Given the description of an element on the screen output the (x, y) to click on. 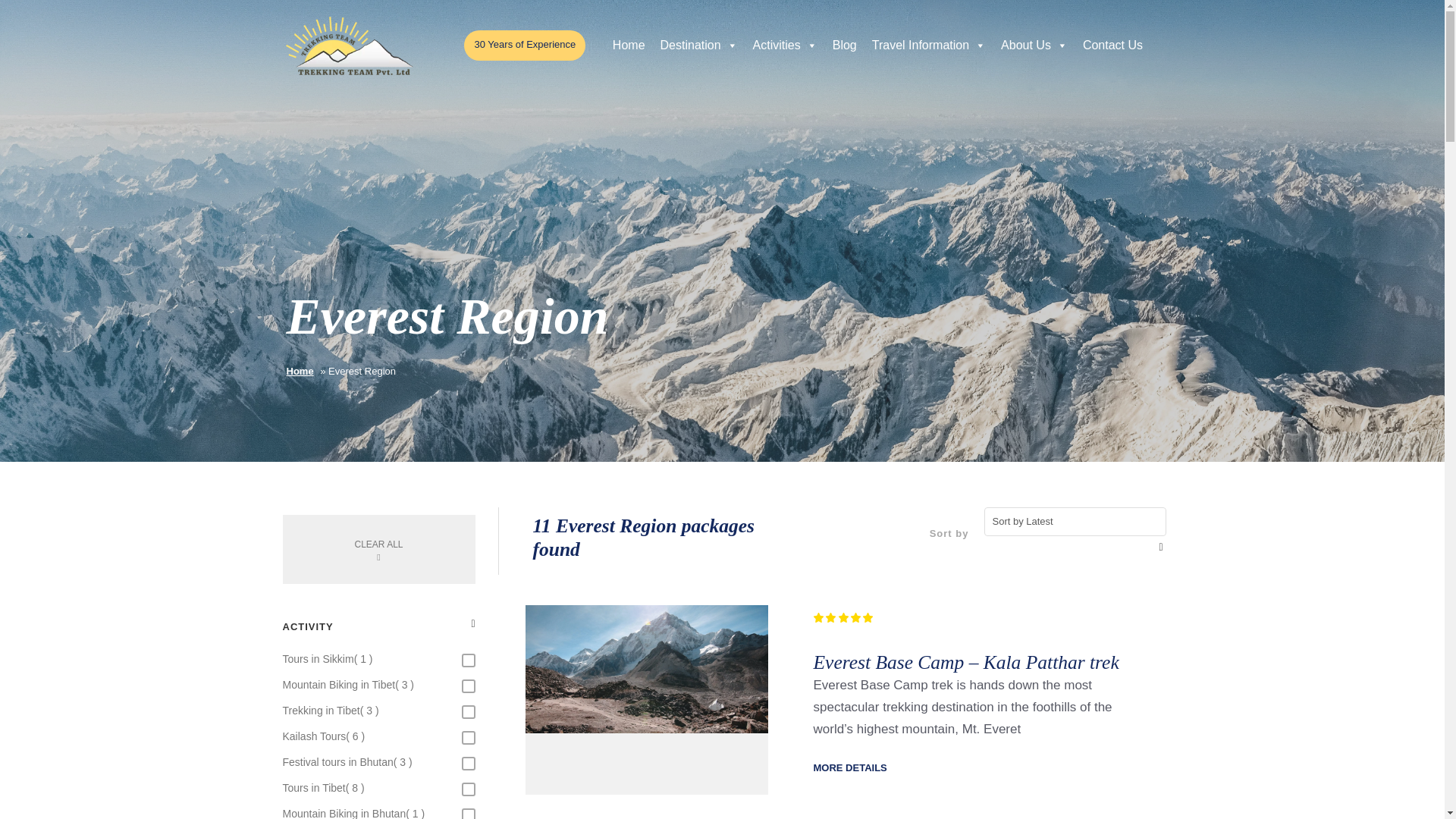
Destination (698, 45)
Activities (785, 45)
Home (628, 45)
